Given the description of an element on the screen output the (x, y) to click on. 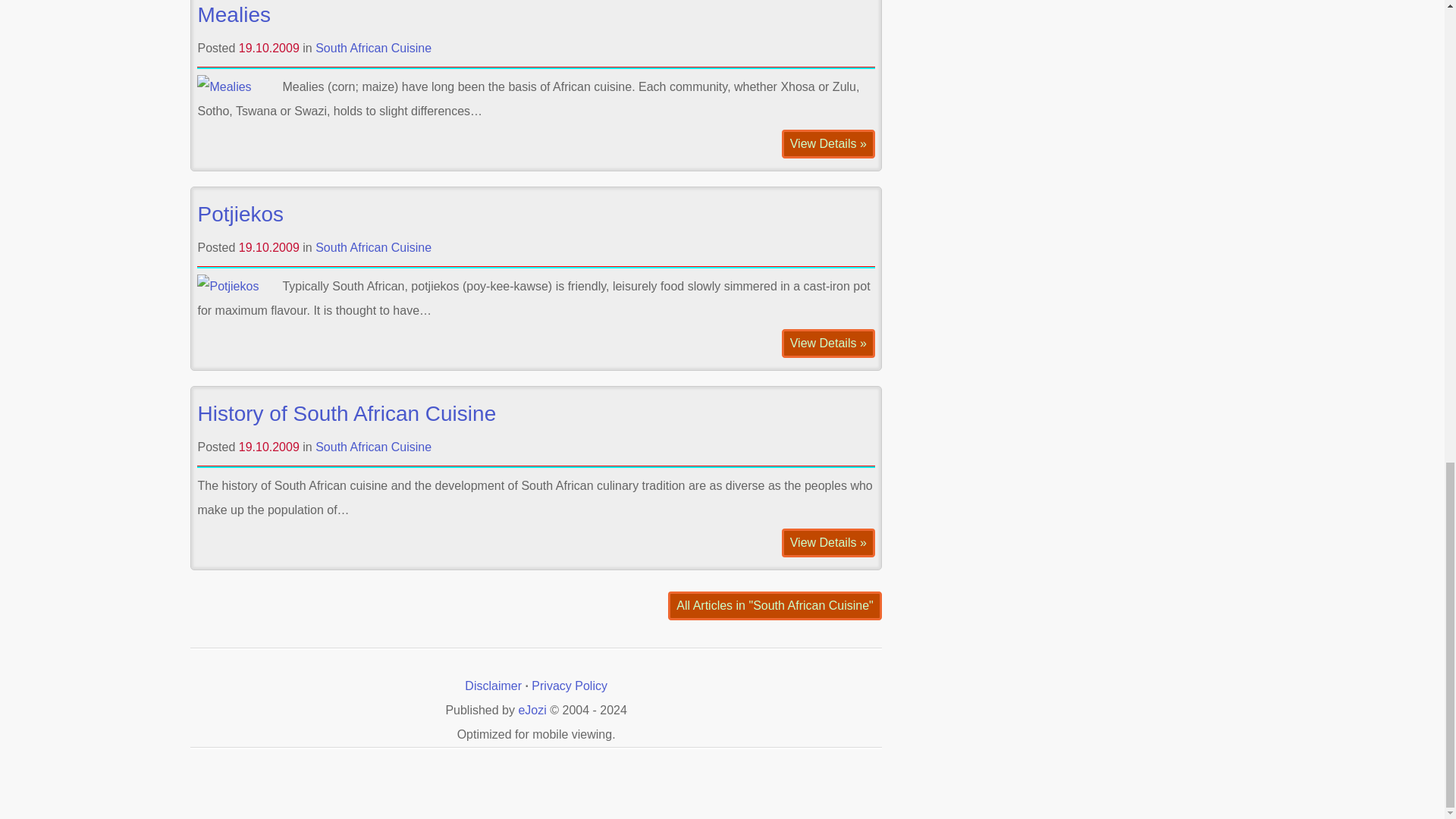
History of South African Cuisine (346, 413)
Mealies (232, 14)
South African Cuisine (372, 246)
South African Cuisine (372, 446)
All Articles in "South African Cuisine" (774, 605)
South African Cuisine (372, 47)
Potjiekos (239, 214)
